Given the description of an element on the screen output the (x, y) to click on. 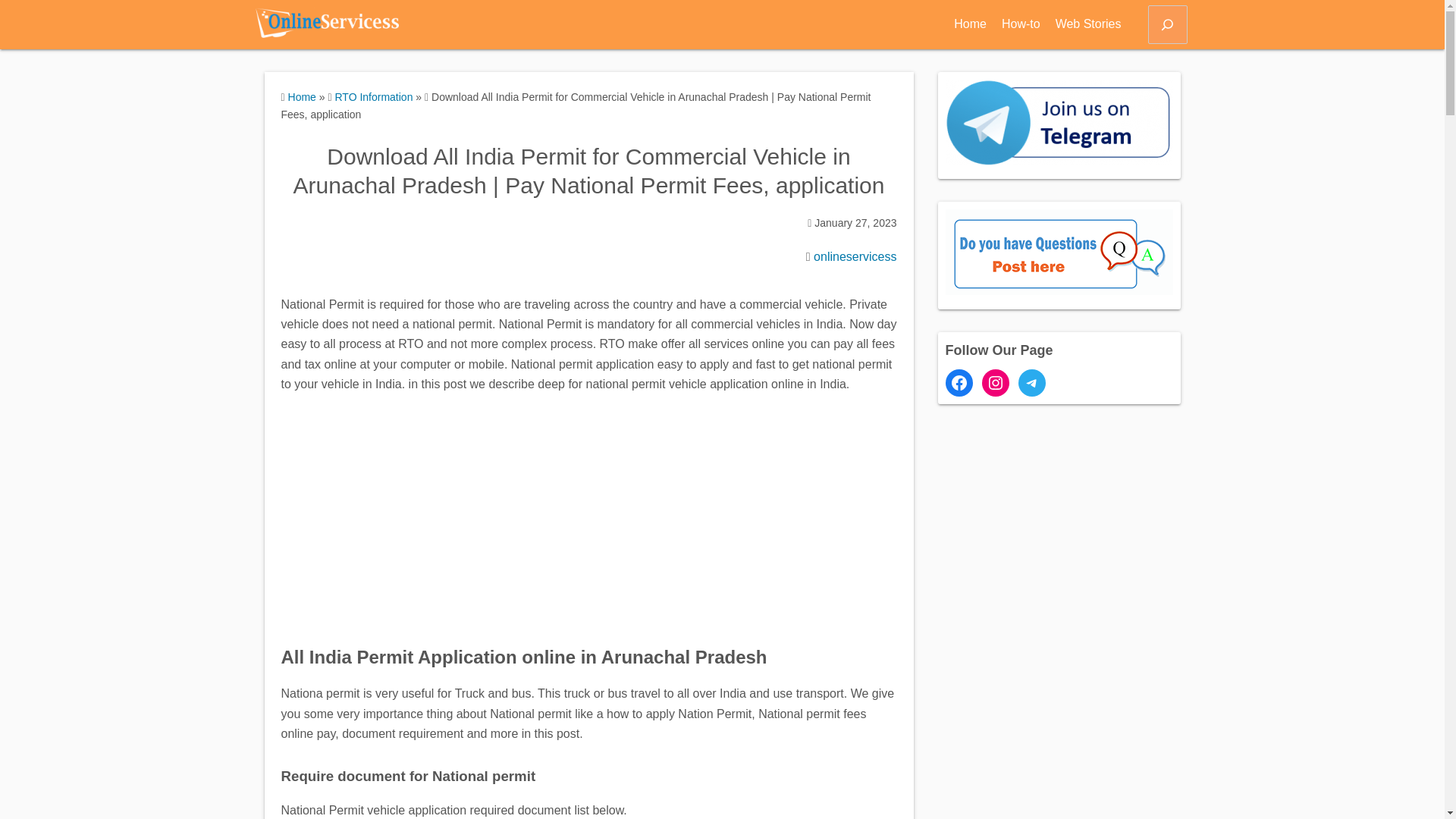
Home (970, 23)
How-to (1021, 23)
Home (301, 96)
onlineservicess (854, 256)
RTO Information (373, 96)
Advertisement (588, 513)
Web Stories (1088, 23)
